Given the description of an element on the screen output the (x, y) to click on. 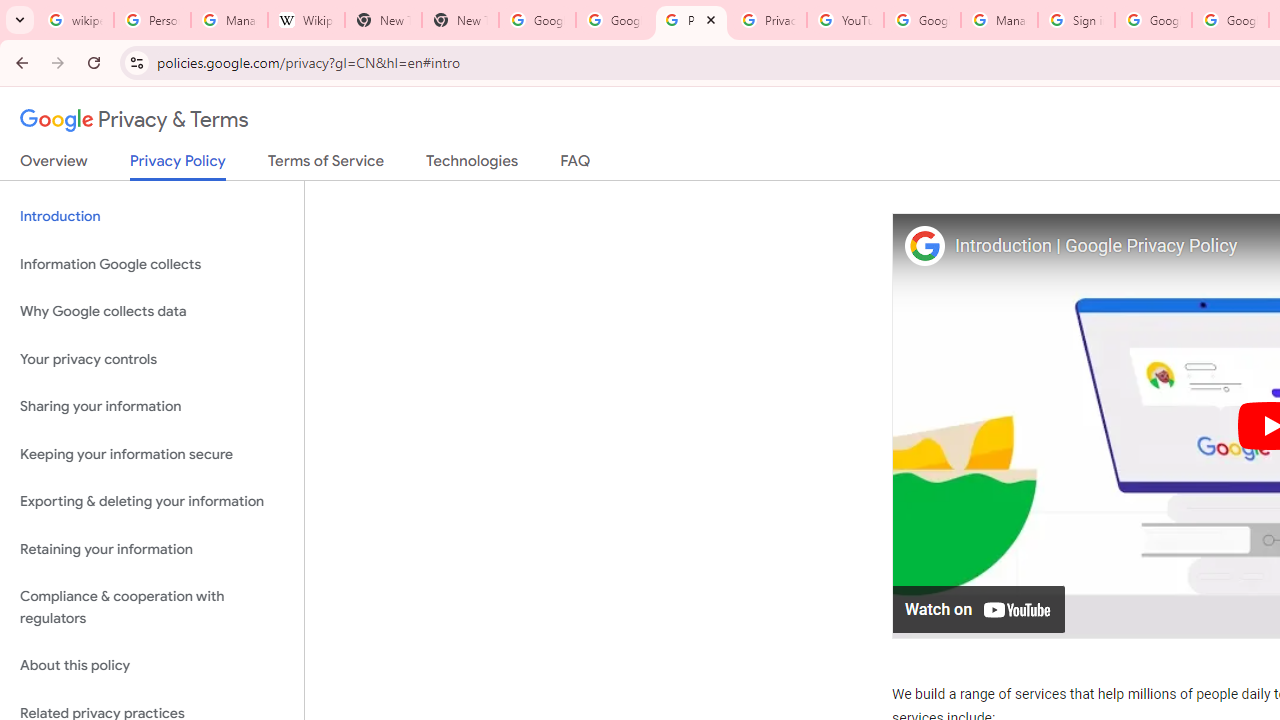
Photo image of Google (924, 244)
Manage your Location History - Google Search Help (228, 20)
Google Account Help (922, 20)
Google Drive: Sign-in (614, 20)
New Tab (460, 20)
